Given the description of an element on the screen output the (x, y) to click on. 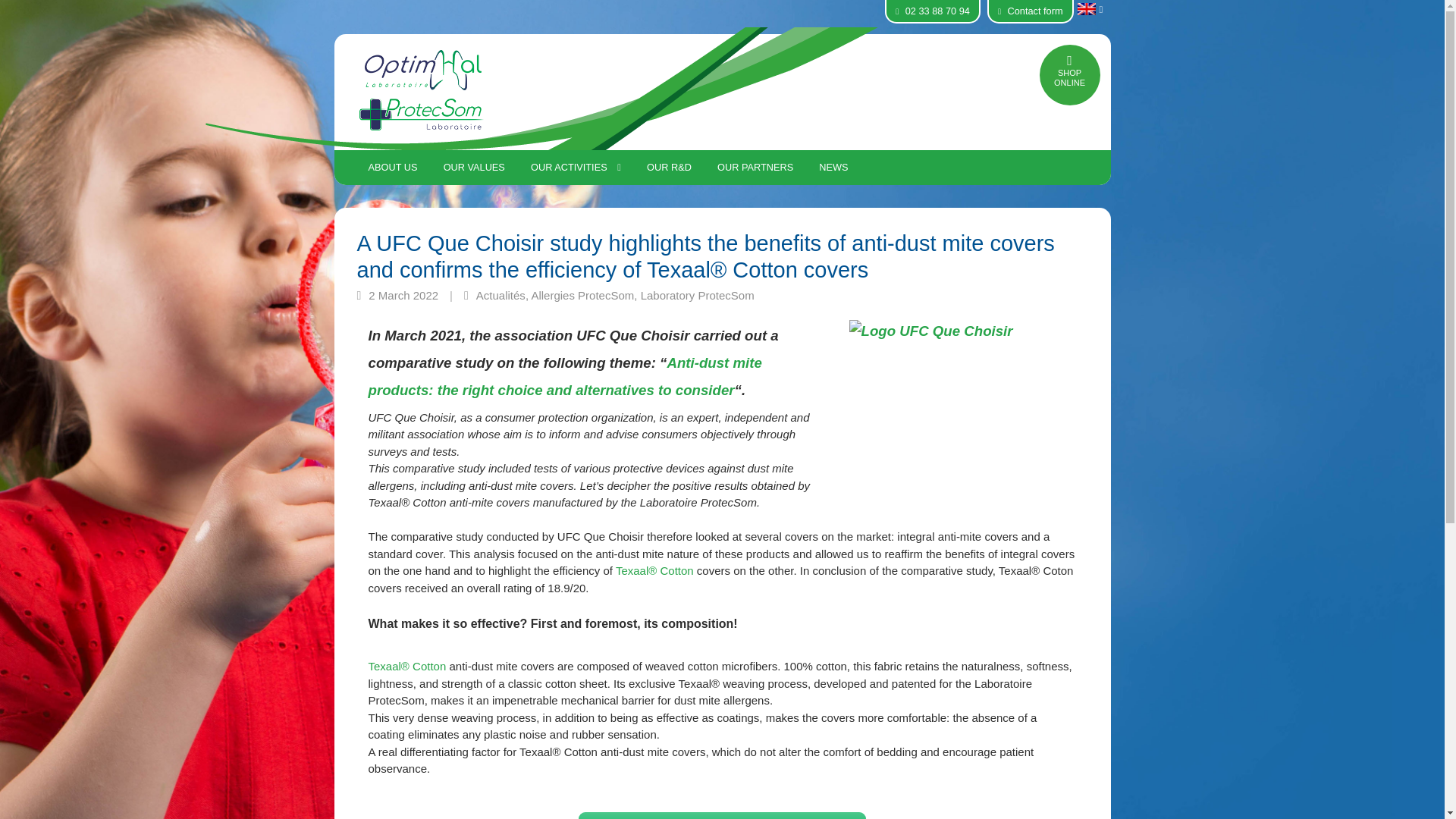
OUR PARTNERS (755, 166)
Allergies ProtecSom (582, 295)
Phone: 02 33 88 70 94 (932, 10)
Laboratory ProtecSom (697, 295)
OUR VALUES (474, 166)
Contact form (1029, 10)
NEWS (833, 166)
ABOUT US (392, 166)
02 33 88 70 94 (932, 10)
